Given the description of an element on the screen output the (x, y) to click on. 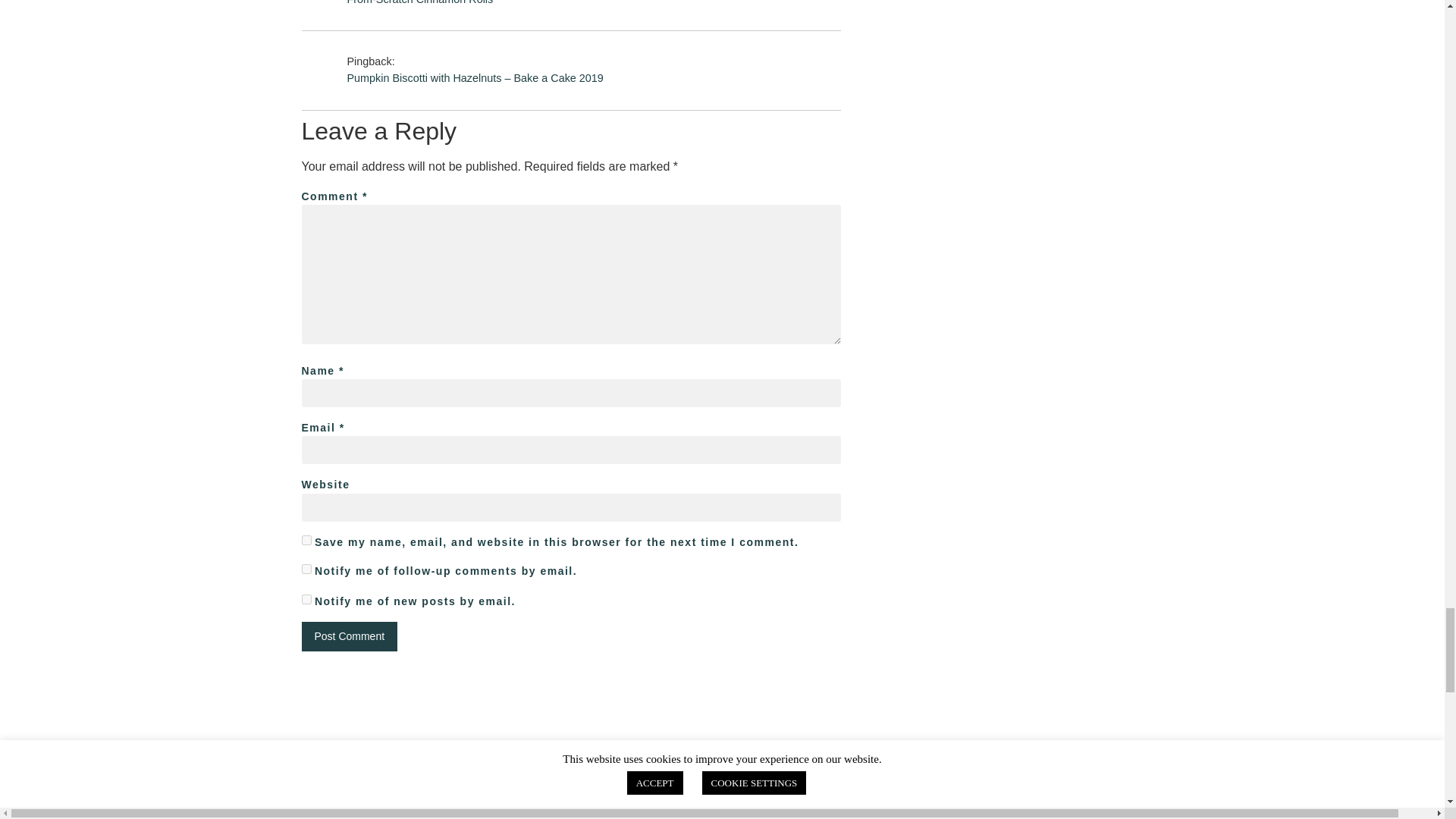
subscribe (306, 599)
subscribe (306, 569)
Post Comment (349, 636)
yes (306, 540)
